Given the description of an element on the screen output the (x, y) to click on. 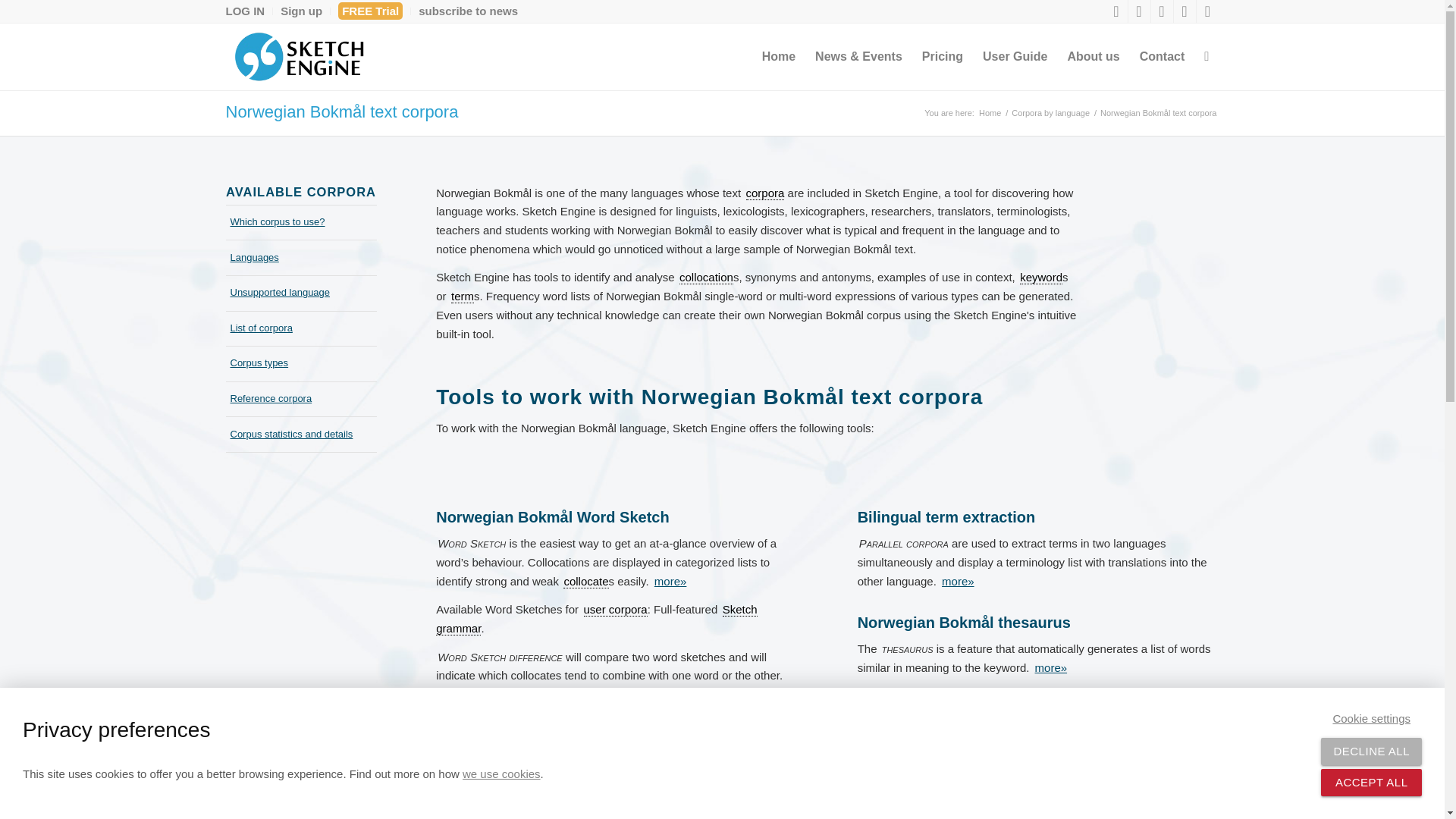
Youtube (1184, 11)
try all features in all languages for 30 days (370, 10)
X (1115, 11)
Facebook (1162, 11)
LinkedIn (1139, 11)
Rss (1208, 11)
